Given the description of an element on the screen output the (x, y) to click on. 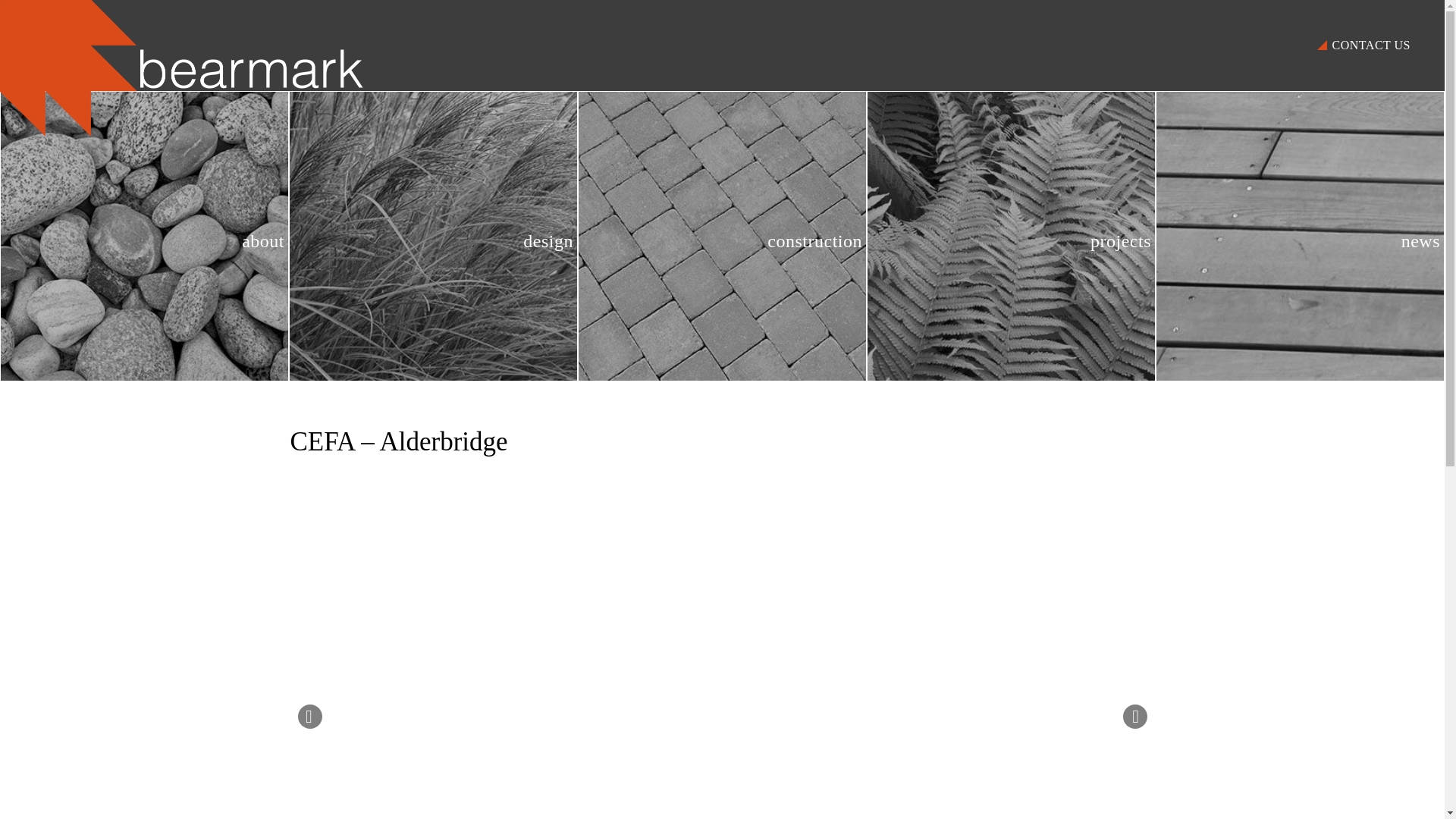
about (144, 237)
news (1300, 237)
design (432, 237)
projects (1010, 237)
construction (722, 237)
CONTACT US (1370, 45)
